Given the description of an element on the screen output the (x, y) to click on. 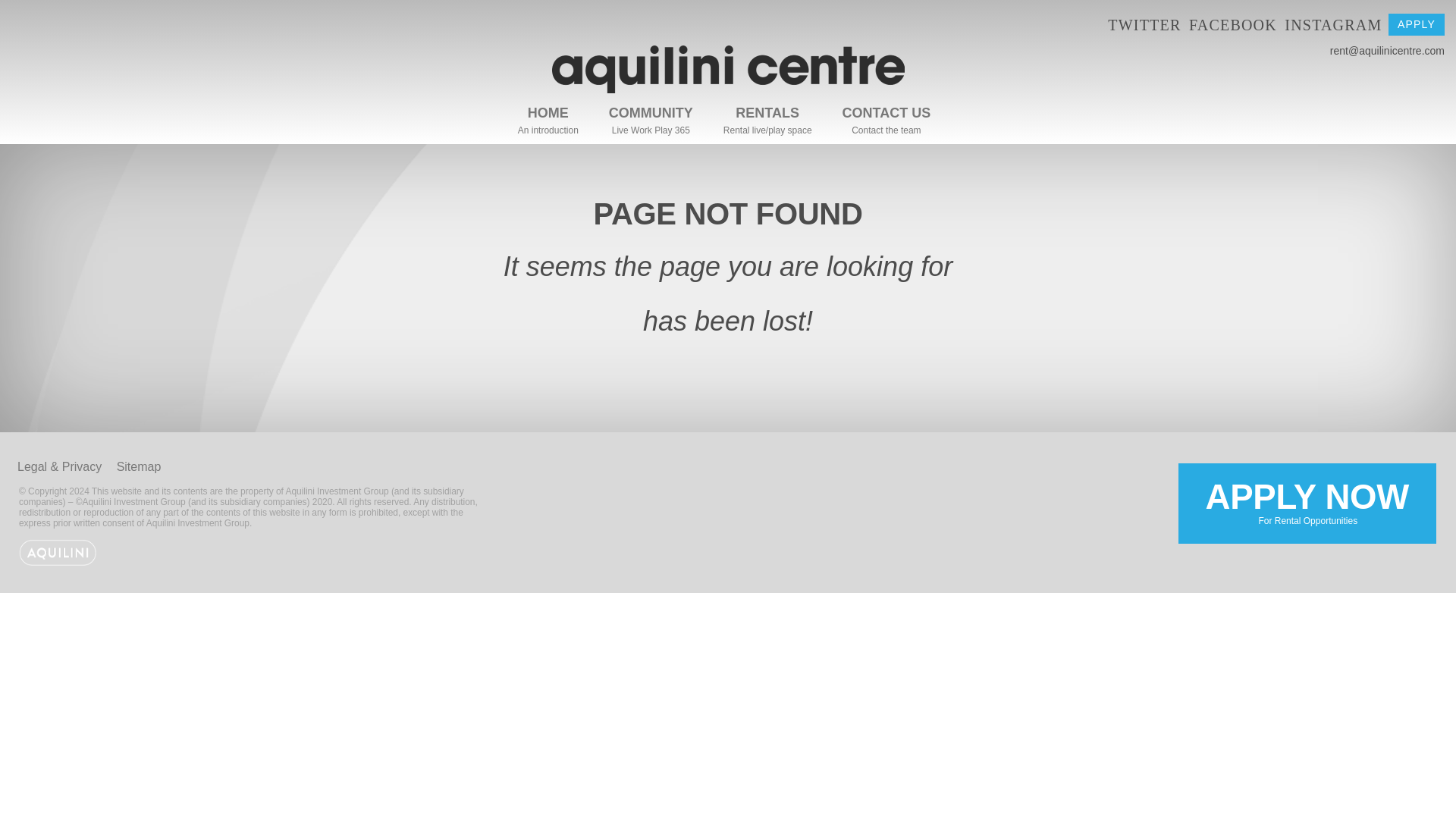
FACEBOOK (1306, 503)
CONTACT US (1233, 24)
TWITTER (886, 115)
Sitemap (1144, 24)
Aquilini Centre (138, 466)
HOME (727, 88)
INSTAGRAM (547, 115)
APPLY (1332, 24)
COMMUNITY (1416, 24)
RENTALS (650, 115)
